Given the description of an element on the screen output the (x, y) to click on. 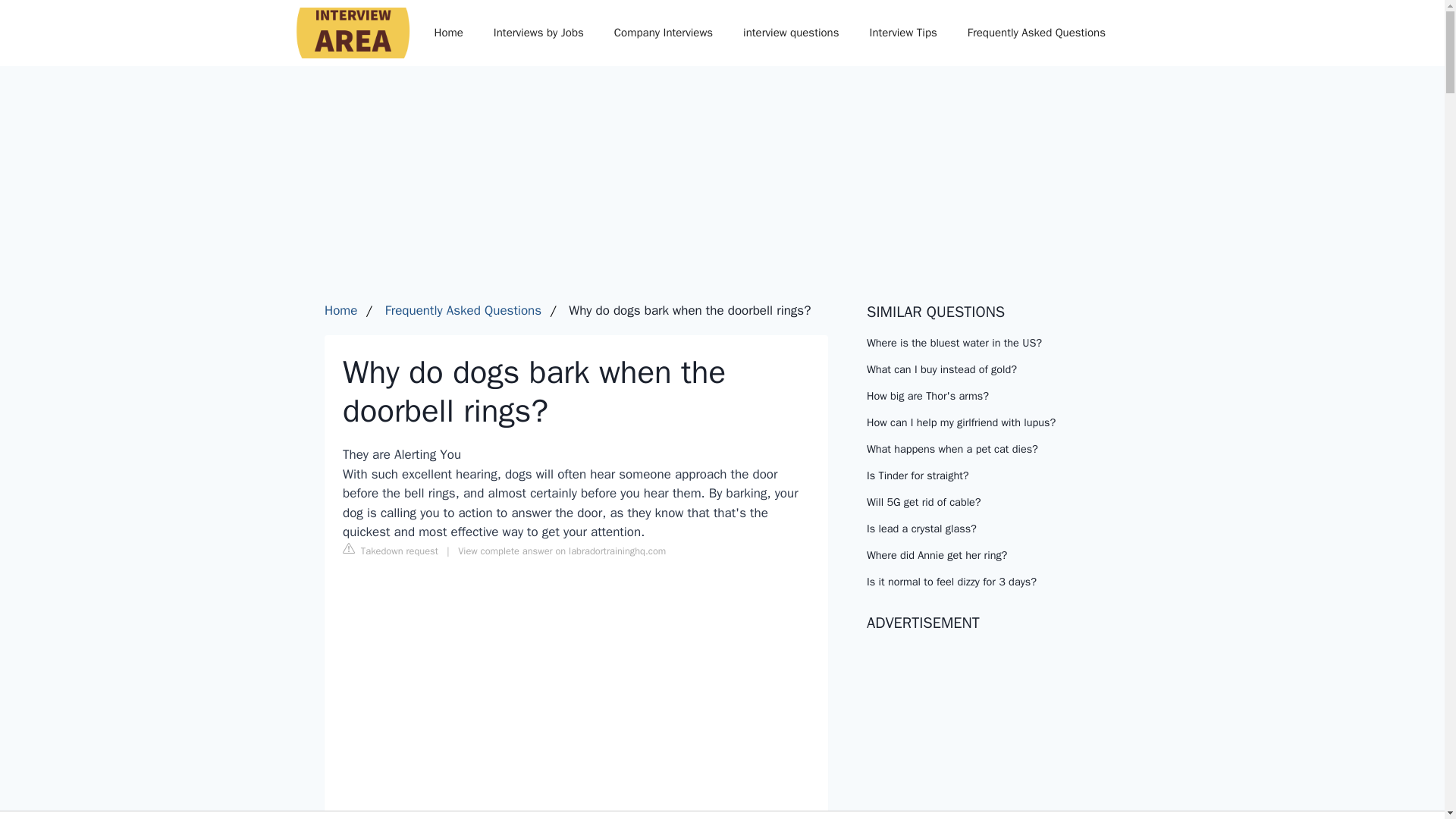
Interview Area (342, 31)
Home (340, 310)
Home (448, 32)
Interview Area (342, 32)
Company Interviews (663, 32)
Interview Tips (902, 32)
interview questions (790, 32)
View complete answer on labradortraininghq.com (561, 551)
Interviews by Jobs (538, 32)
Frequently Asked Questions (1036, 32)
